Given the description of an element on the screen output the (x, y) to click on. 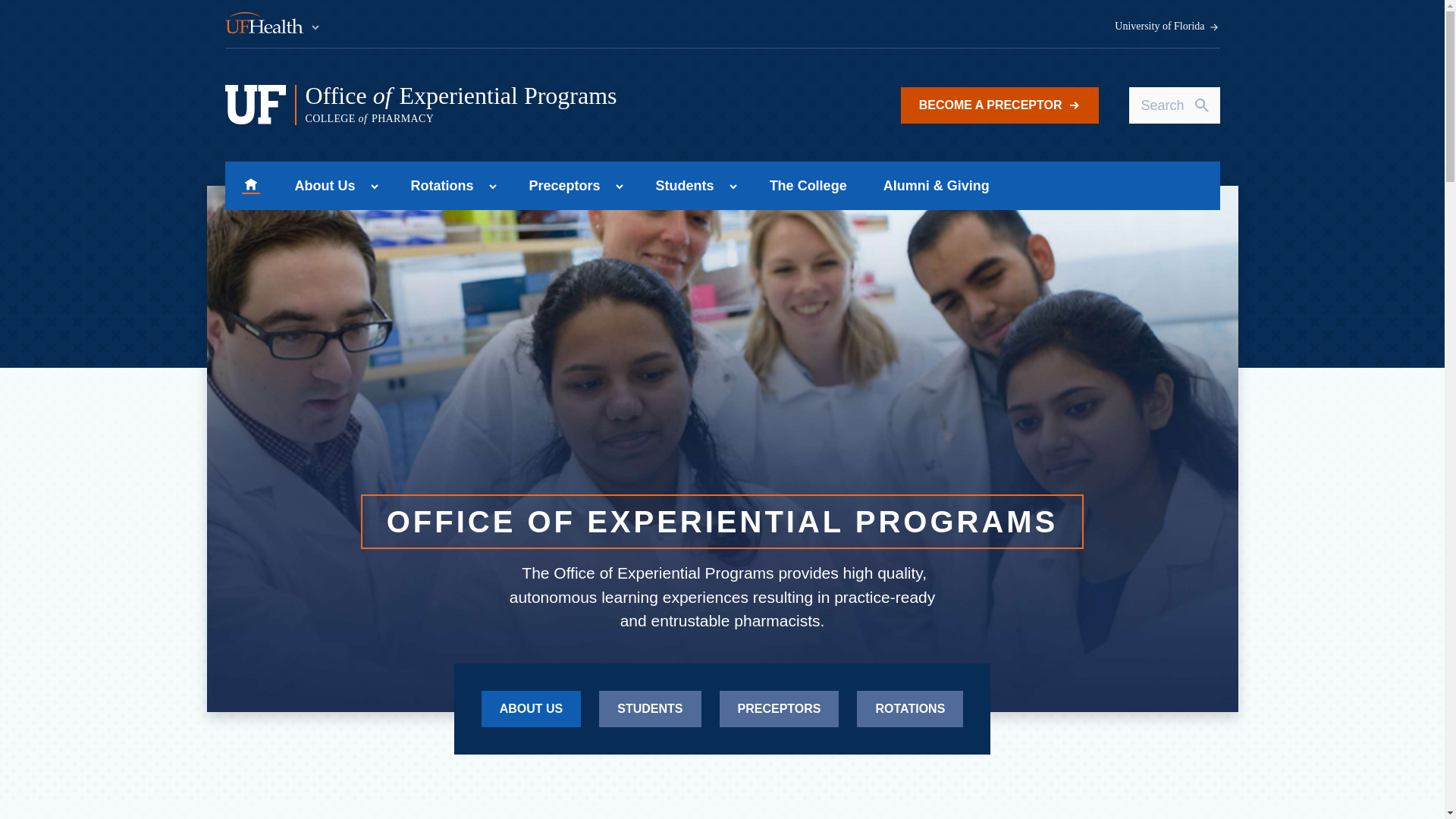
Home (250, 185)
Rotations (438, 185)
About Us (320, 185)
BECOME A PRECEPTOR (1000, 104)
University of Florida (1167, 26)
UF Health (272, 24)
Preceptors (560, 185)
Skip to main content (515, 105)
